Given the description of an element on the screen output the (x, y) to click on. 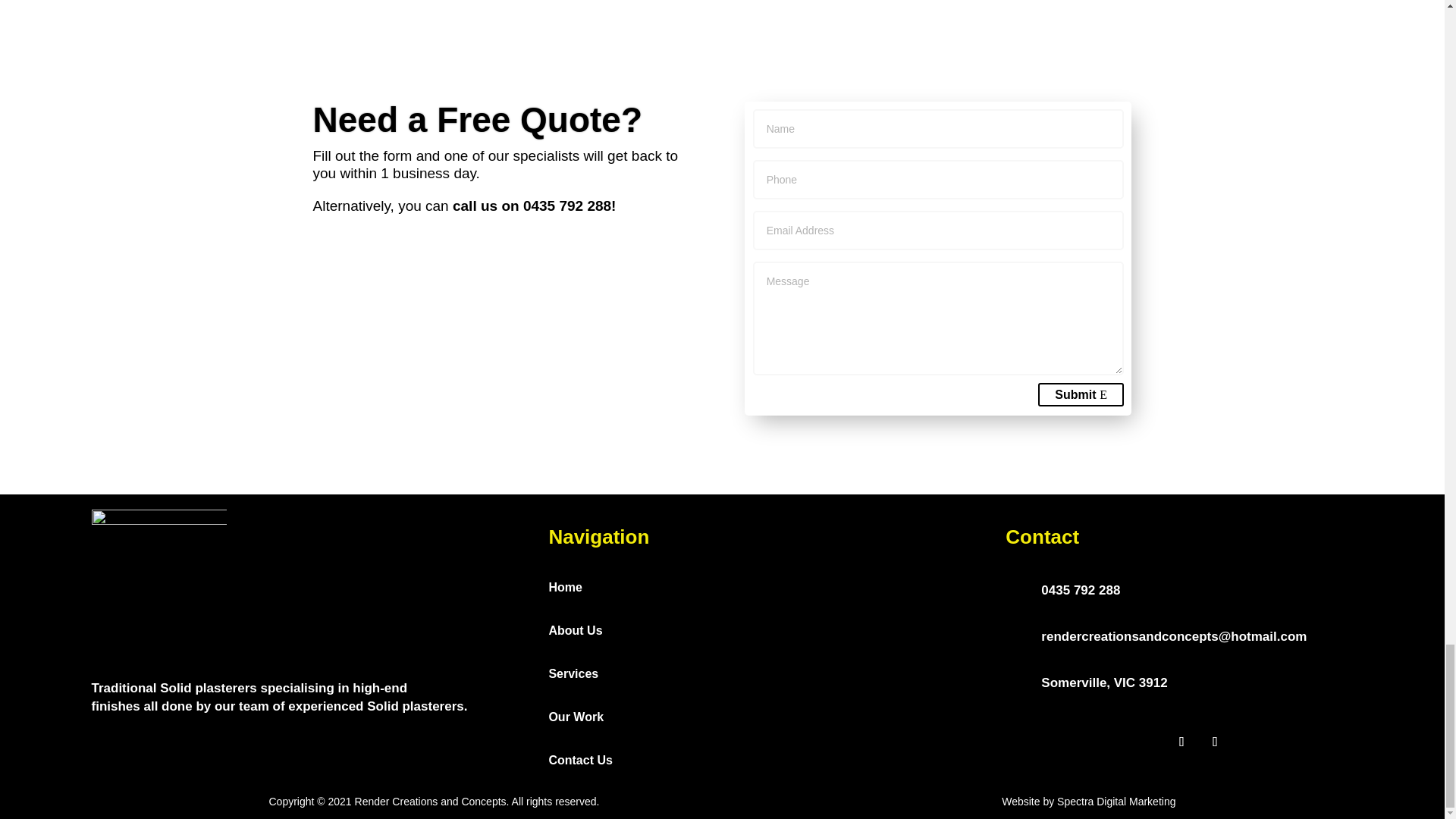
0435 792 288 (1080, 590)
Submit (1081, 394)
call us on 0435 792 288! (531, 205)
Follow on Instagram (1215, 741)
Follow on Facebook (1182, 741)
Spectra Digital Marketing (1115, 801)
